Given the description of an element on the screen output the (x, y) to click on. 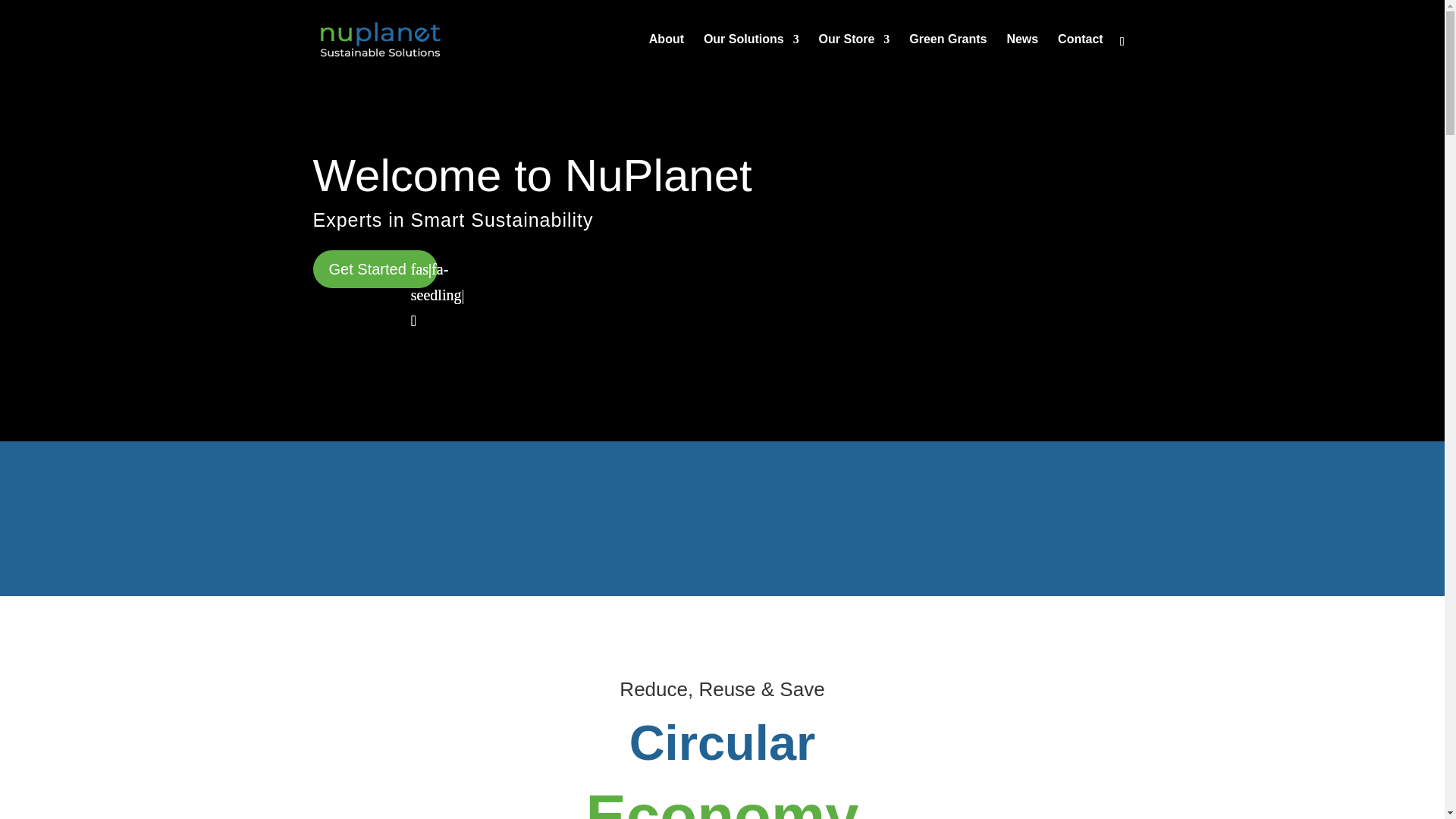
astellas2 (213, 517)
Our Solutions (751, 56)
Contact (1080, 56)
Green Grants (947, 56)
cavan1 (823, 517)
Macdandls (1026, 517)
Bunzl1 (620, 517)
Get Started (374, 269)
Our Store (853, 56)
Best-Westerns-1 (416, 517)
